Given the description of an element on the screen output the (x, y) to click on. 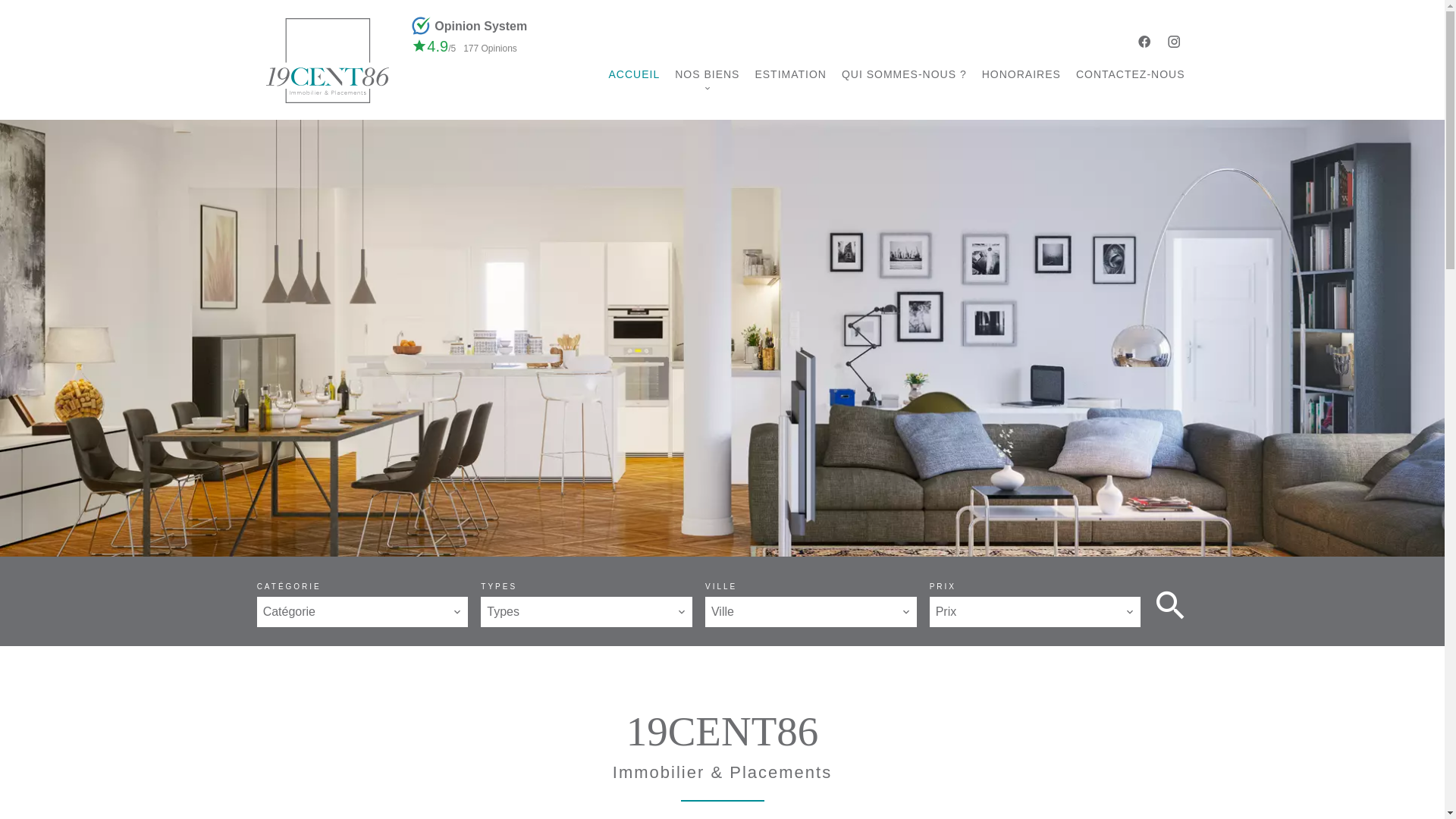
Return to home page now Element type: text (721, 516)
